Given the description of an element on the screen output the (x, y) to click on. 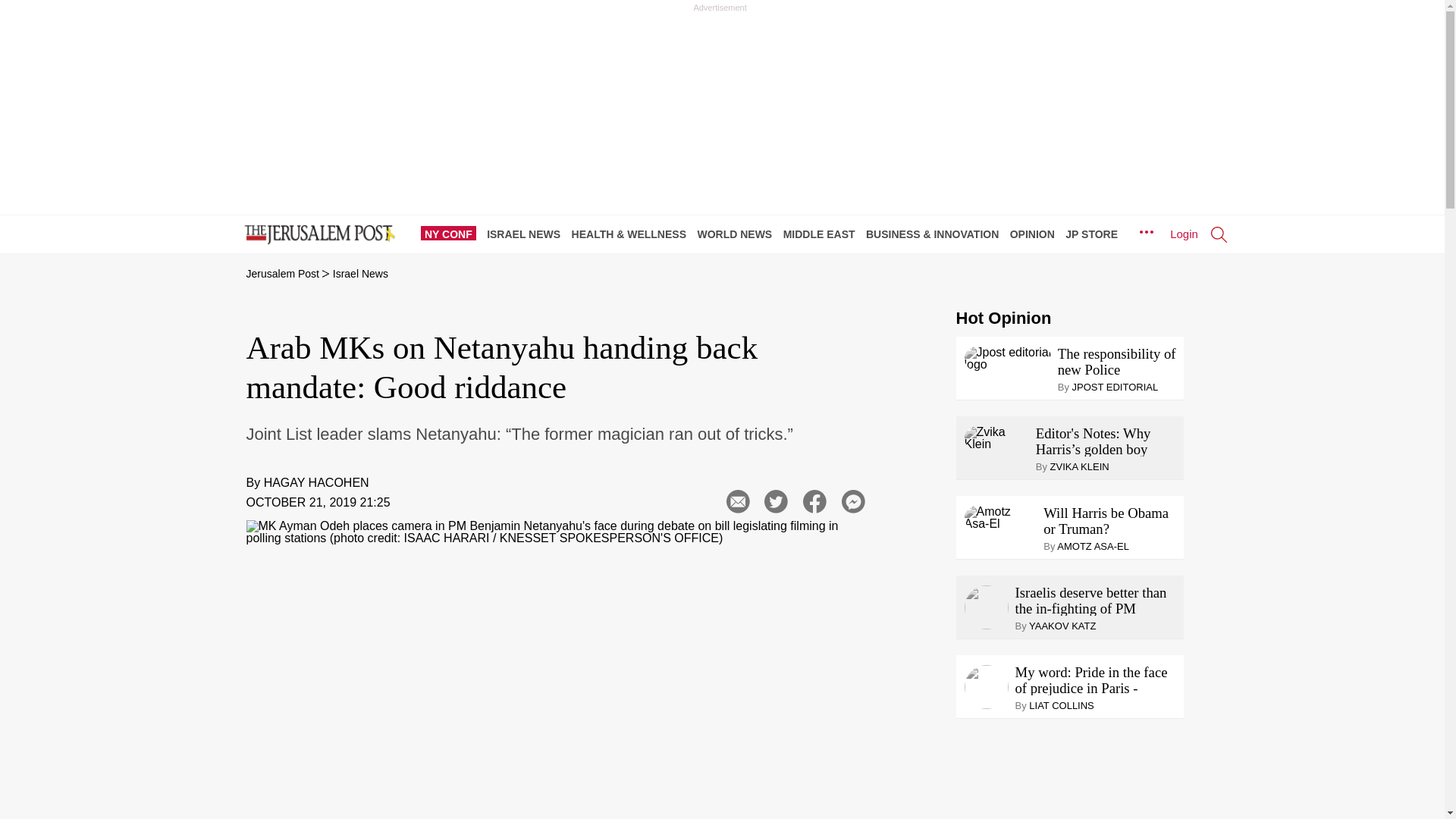
Amotz Asa-El (1000, 517)
WORLD NEWS (737, 234)
Jerusalem Post (282, 273)
 Zvika Klein (996, 437)
ZVIKA KLEIN (1079, 466)
JPOST EDITORIAL (1114, 387)
